Given the description of an element on the screen output the (x, y) to click on. 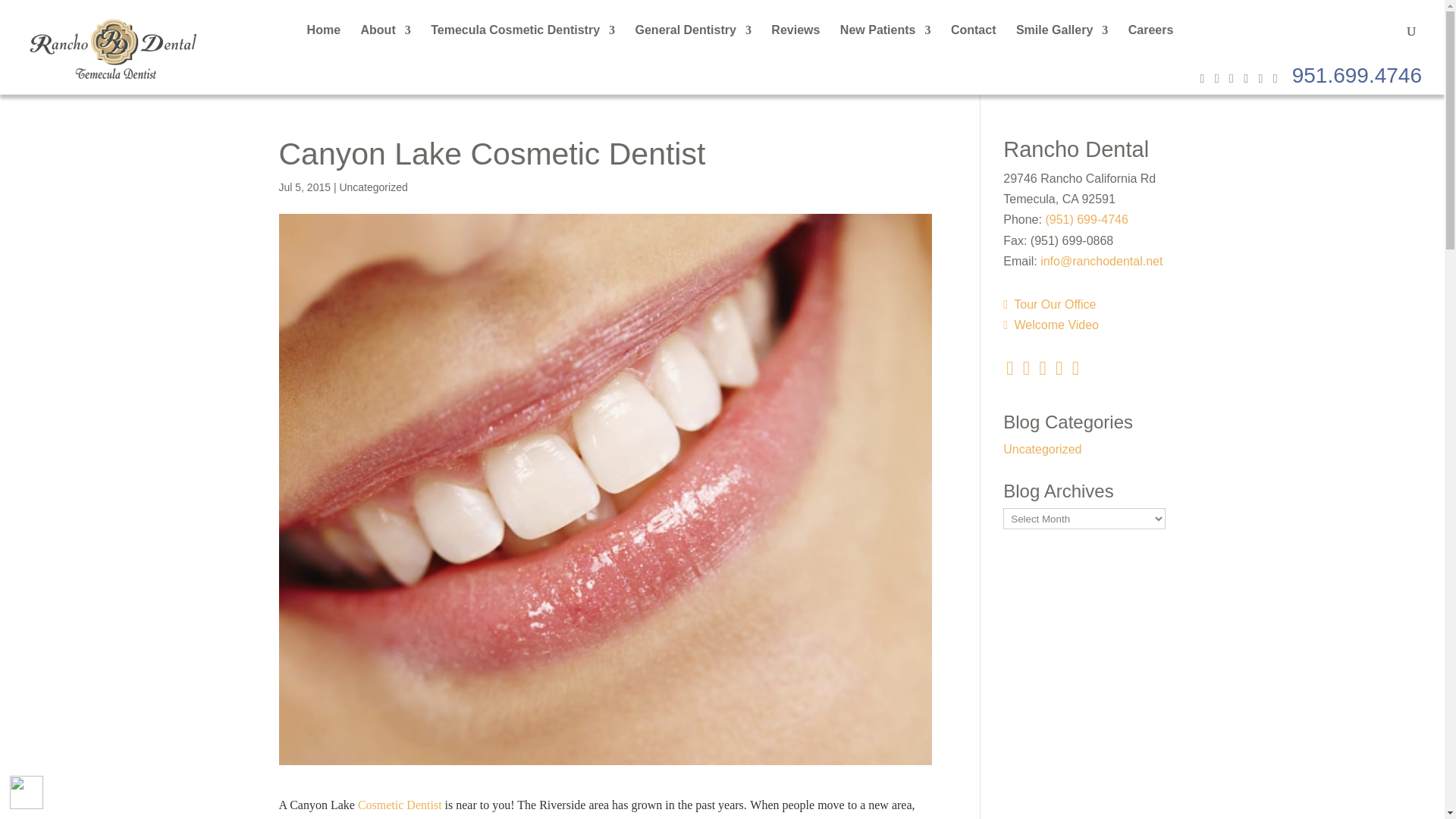
Reviews (795, 42)
About (385, 42)
General Dentistry (692, 42)
Home (323, 42)
New Patients (885, 42)
Temecula Cosmetic Dentistry (522, 42)
Smile Gallery (1062, 42)
Contact (972, 42)
